Given the description of an element on the screen output the (x, y) to click on. 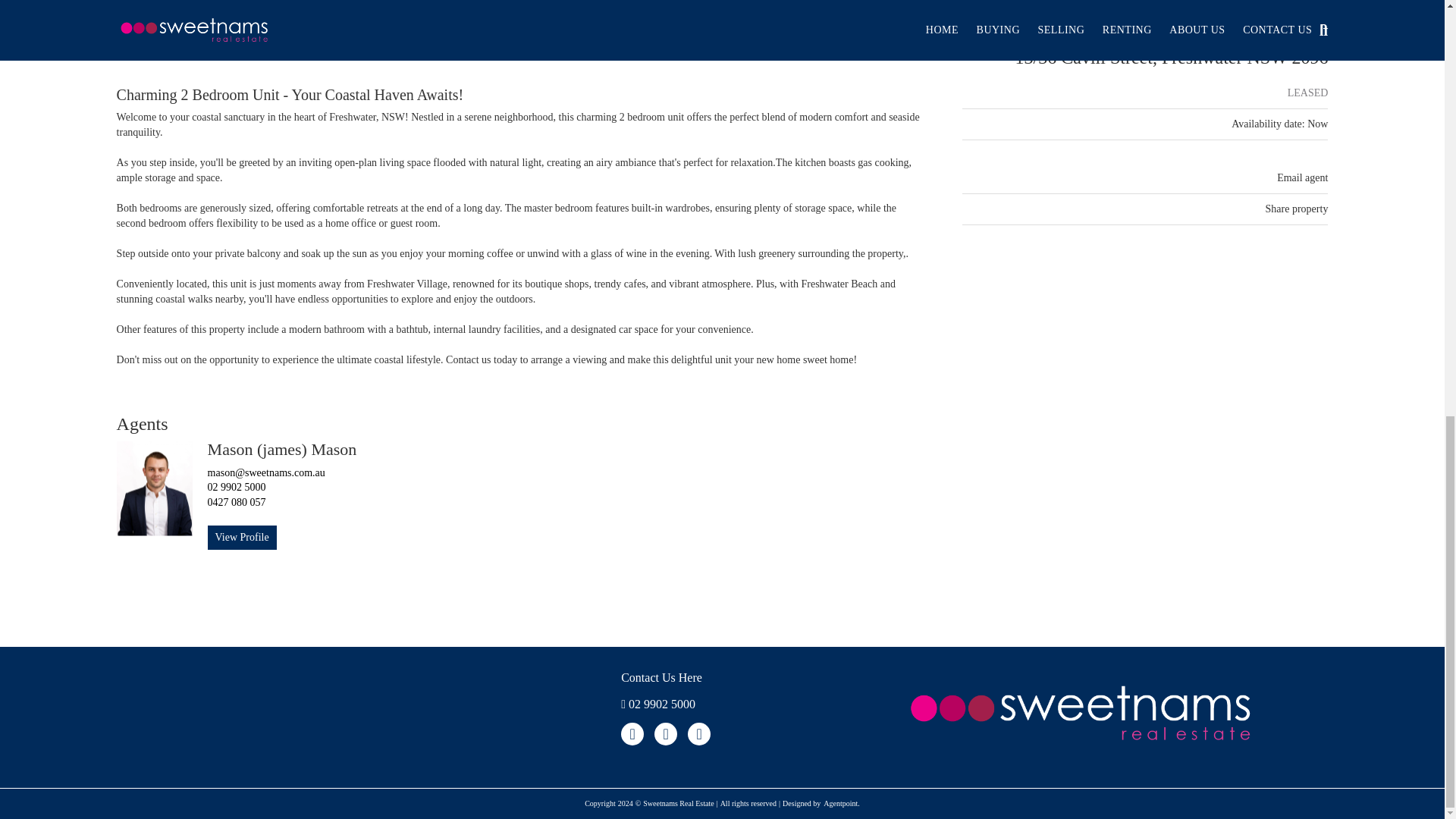
Share property (1296, 208)
Email agent (1301, 177)
